Given the description of an element on the screen output the (x, y) to click on. 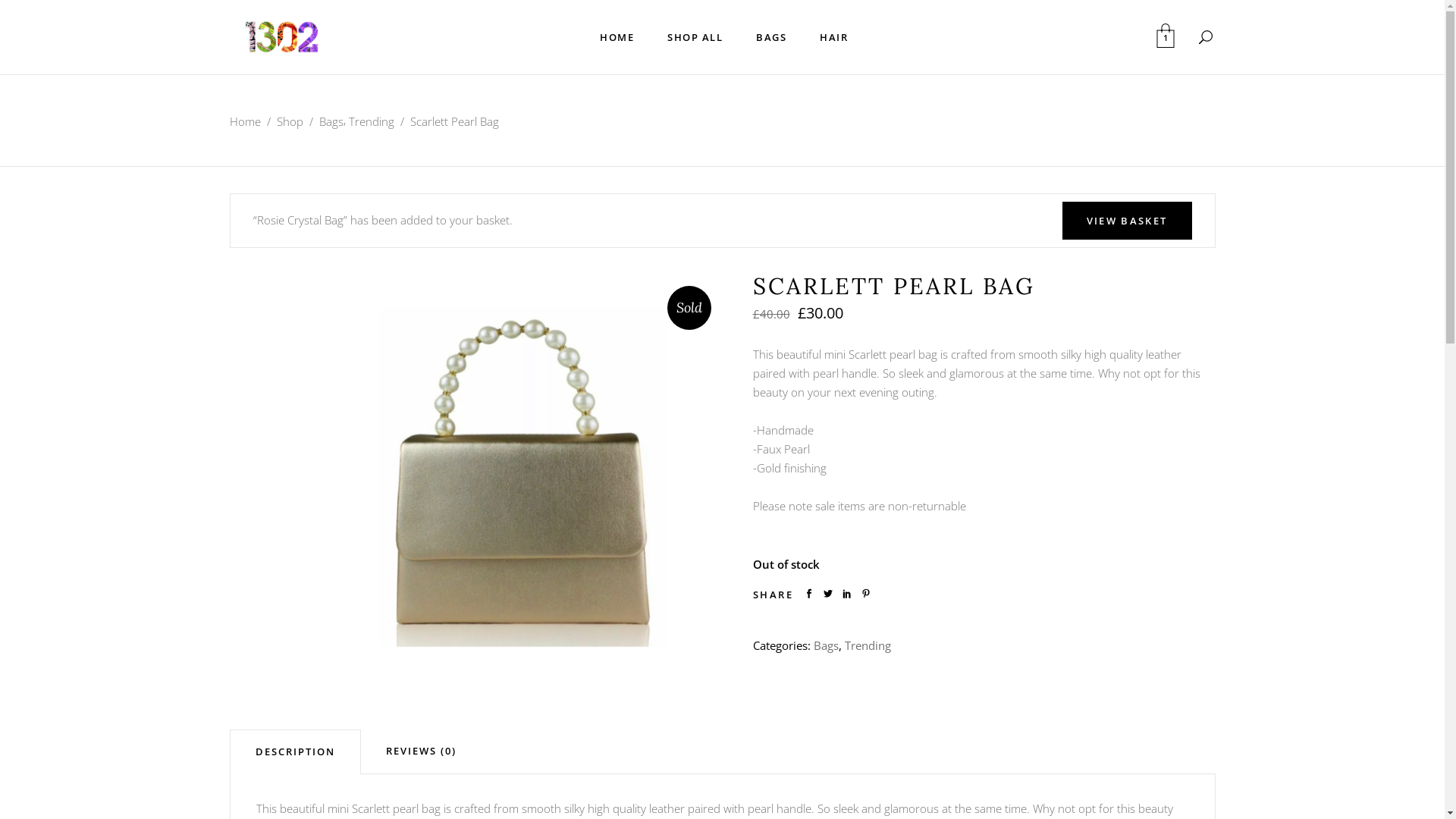
Home Element type: text (244, 121)
VIEW BASKET Element type: text (1127, 220)
Bags Element type: text (824, 644)
DESCRIPTION Element type: text (294, 751)
Trending Element type: text (371, 121)
1302 LONDON BAG Element type: hover (524, 471)
HAIR Element type: text (833, 37)
Bags Element type: text (330, 121)
SHOP ALL Element type: text (694, 37)
BAGS Element type: text (771, 37)
HOME Element type: text (616, 37)
REVIEWS (0) Element type: text (420, 750)
1 Element type: text (1164, 37)
Trending Element type: text (867, 644)
Shop Element type: text (289, 121)
